Given the description of an element on the screen output the (x, y) to click on. 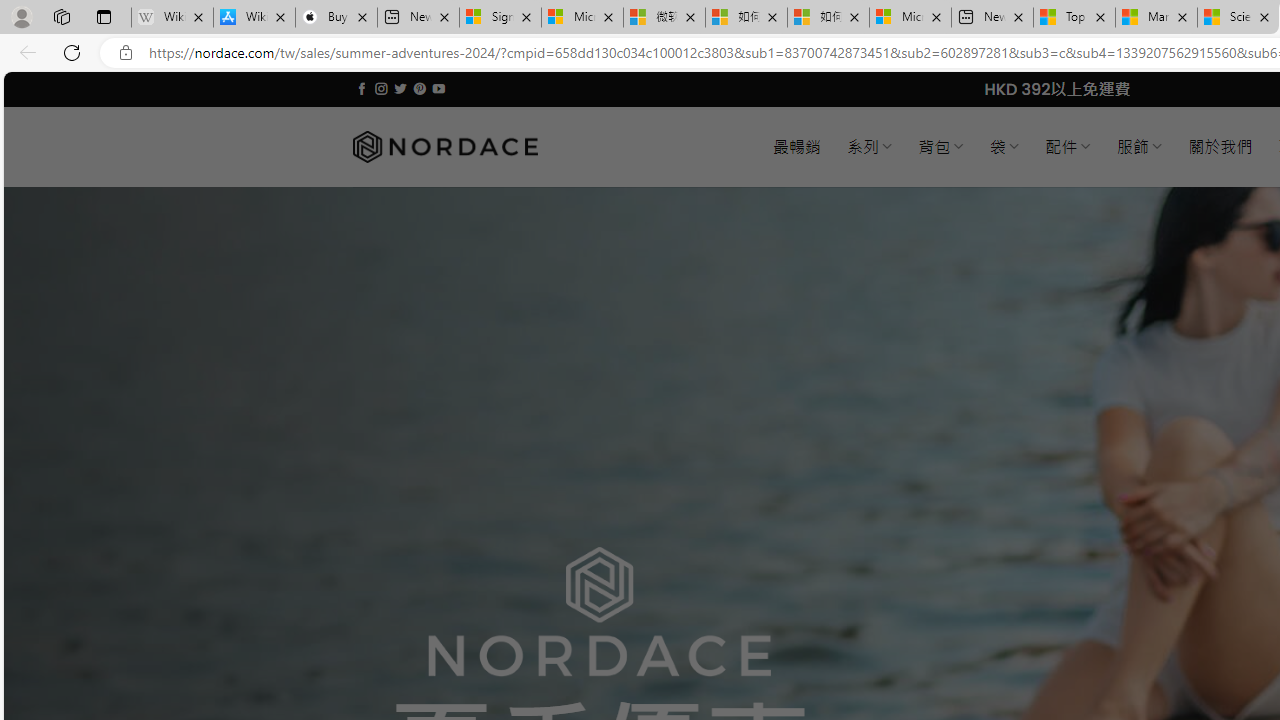
Follow on Facebook (361, 88)
Follow on Twitter (400, 88)
